Given the description of an element on the screen output the (x, y) to click on. 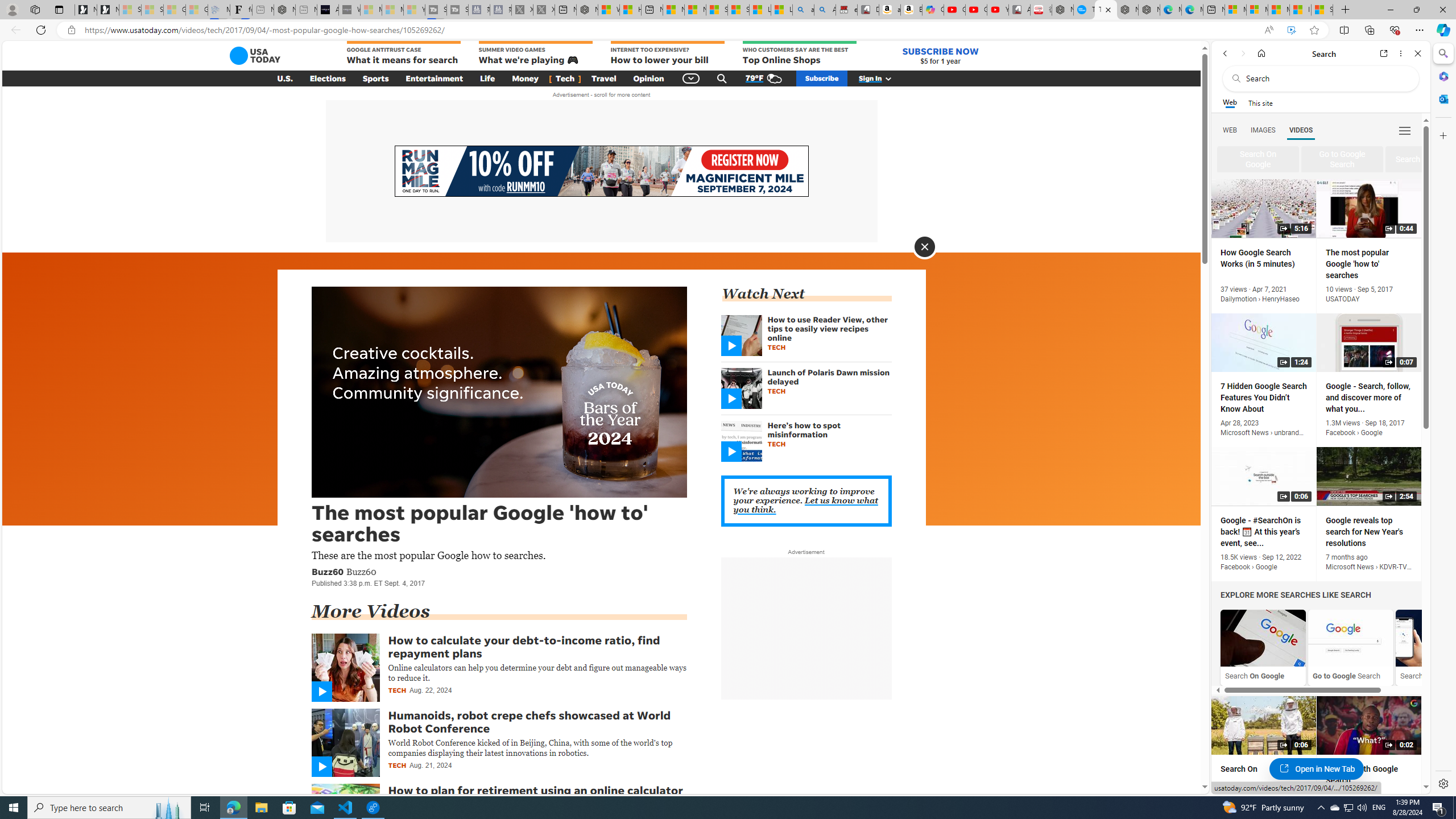
Life (487, 78)
Search On Google (1263, 647)
Enhance video (1291, 29)
Class: gnt_n_us_a_svg (885, 78)
WHO CUSTOMERS SAY ARE THE BEST Top Online Shops (799, 53)
